Given the description of an element on the screen output the (x, y) to click on. 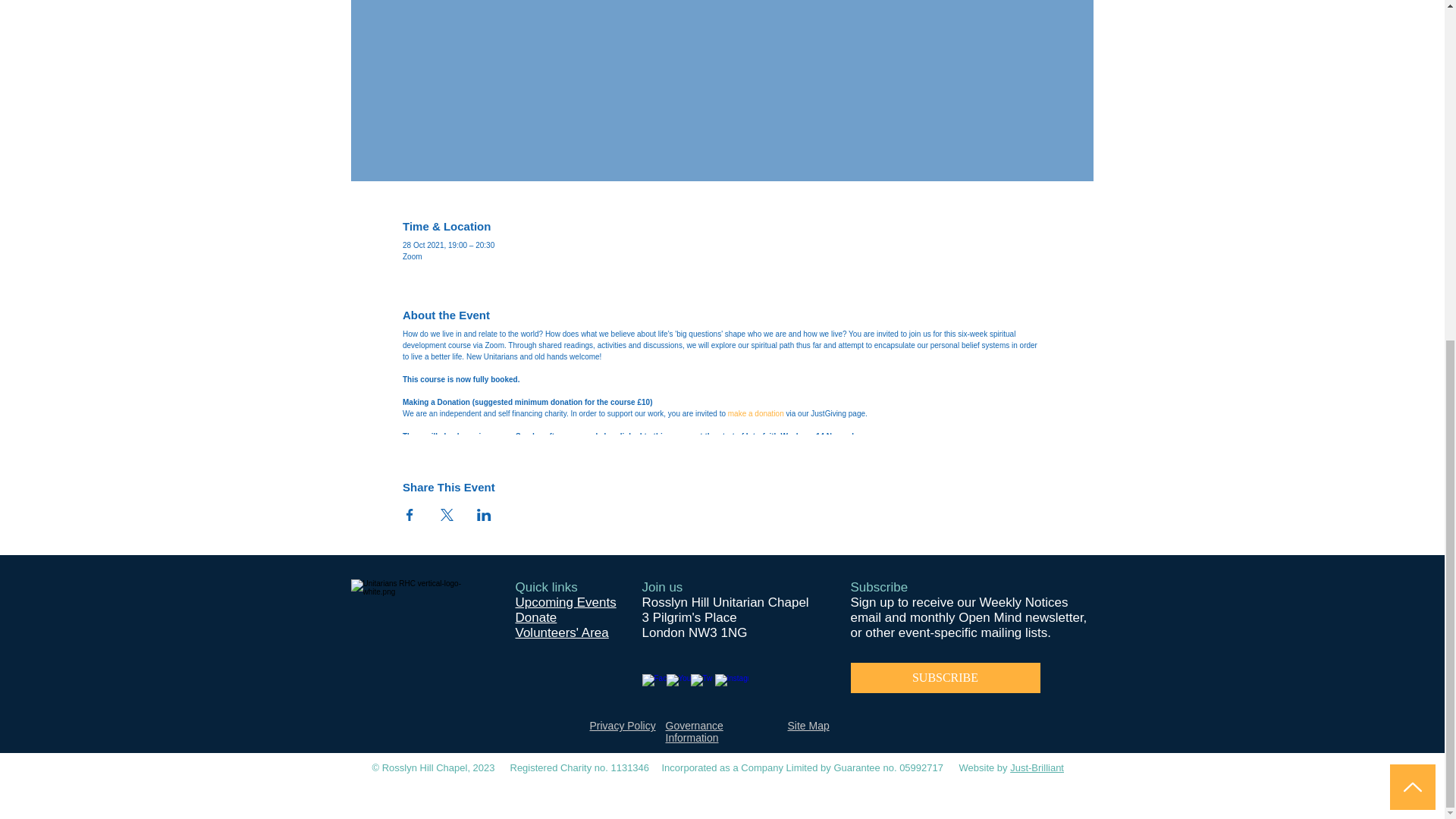
Upcoming Events (565, 602)
Governance Information (694, 731)
Volunteers' Area (561, 632)
Site Map (807, 725)
Donate (536, 617)
Privacy Policy (622, 725)
make a donation (756, 413)
